Given the description of an element on the screen output the (x, y) to click on. 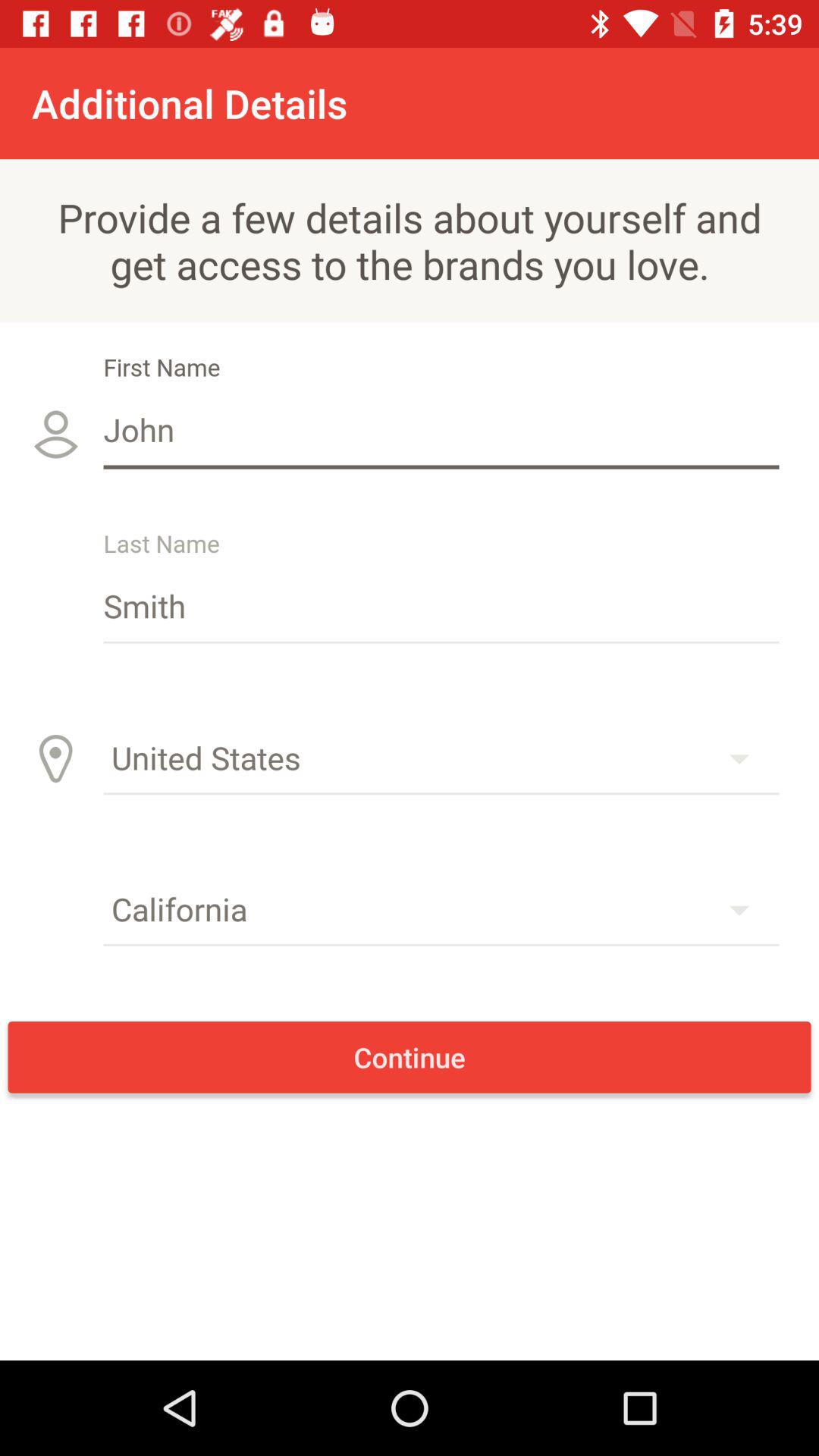
select the item above the smith icon (441, 428)
